Given the description of an element on the screen output the (x, y) to click on. 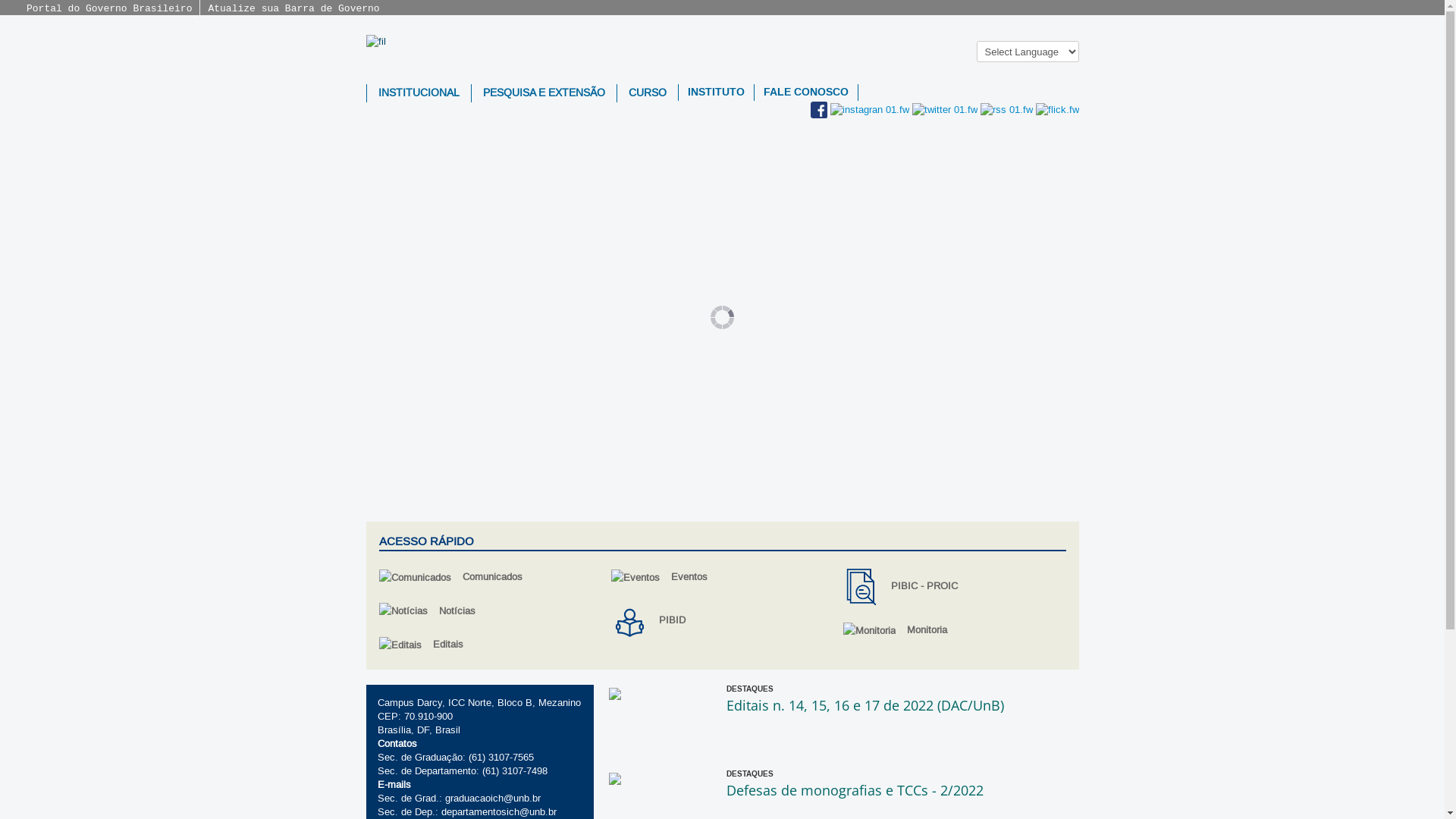
Defesas de monografias e TCCs - 2/2022 Element type: text (854, 789)
Monitoria Element type: text (954, 630)
INSTITUTO Element type: text (715, 92)
Atualize sua Barra de Governo Element type: text (293, 8)
PIBID Element type: text (722, 620)
FALE CONOSCO Element type: text (804, 92)
Comunicados Element type: text (490, 577)
PIBIC - PROIC Element type: text (954, 586)
Portal do Governo Brasileiro Element type: text (108, 8)
Eventos Element type: text (722, 577)
Editais Element type: text (490, 644)
graduacaoich@unb.br Element type: text (491, 798)
Editais n. 14, 15, 16 e 17 de 2022 (DAC/UnB) Element type: text (865, 704)
